Given the description of an element on the screen output the (x, y) to click on. 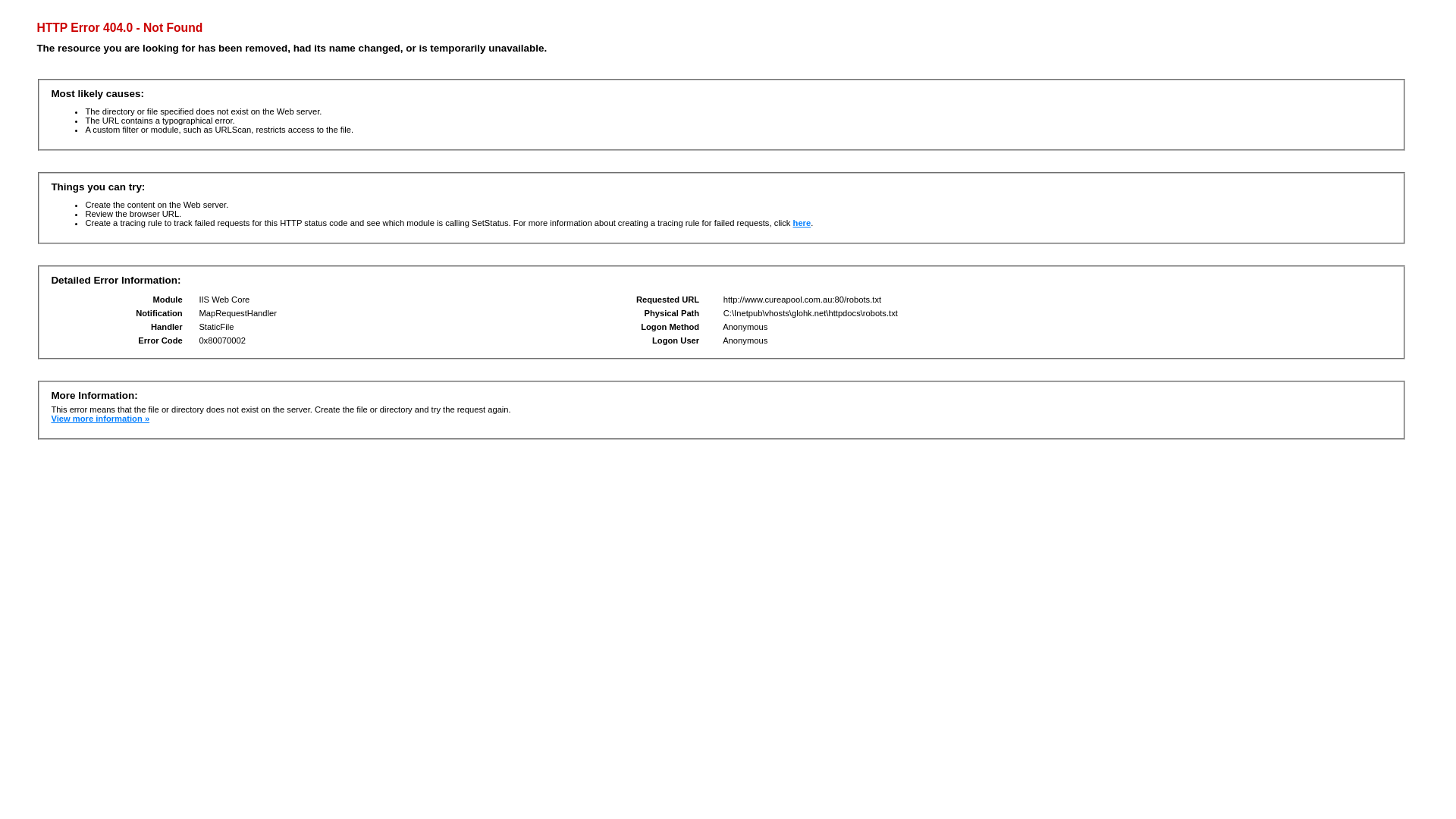
here Element type: text (802, 222)
